Given the description of an element on the screen output the (x, y) to click on. 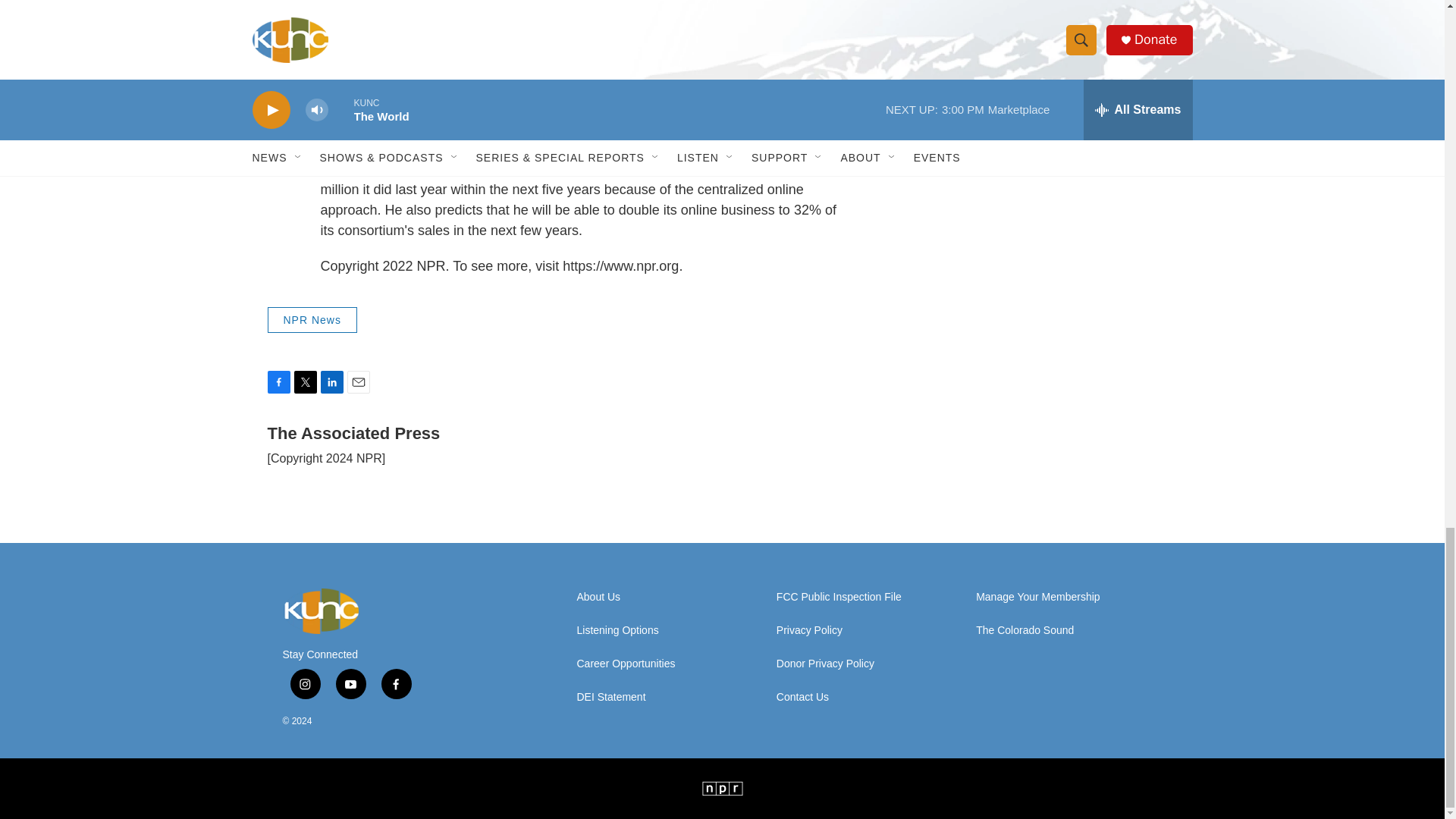
Subscribe (1017, 91)
